Given the description of an element on the screen output the (x, y) to click on. 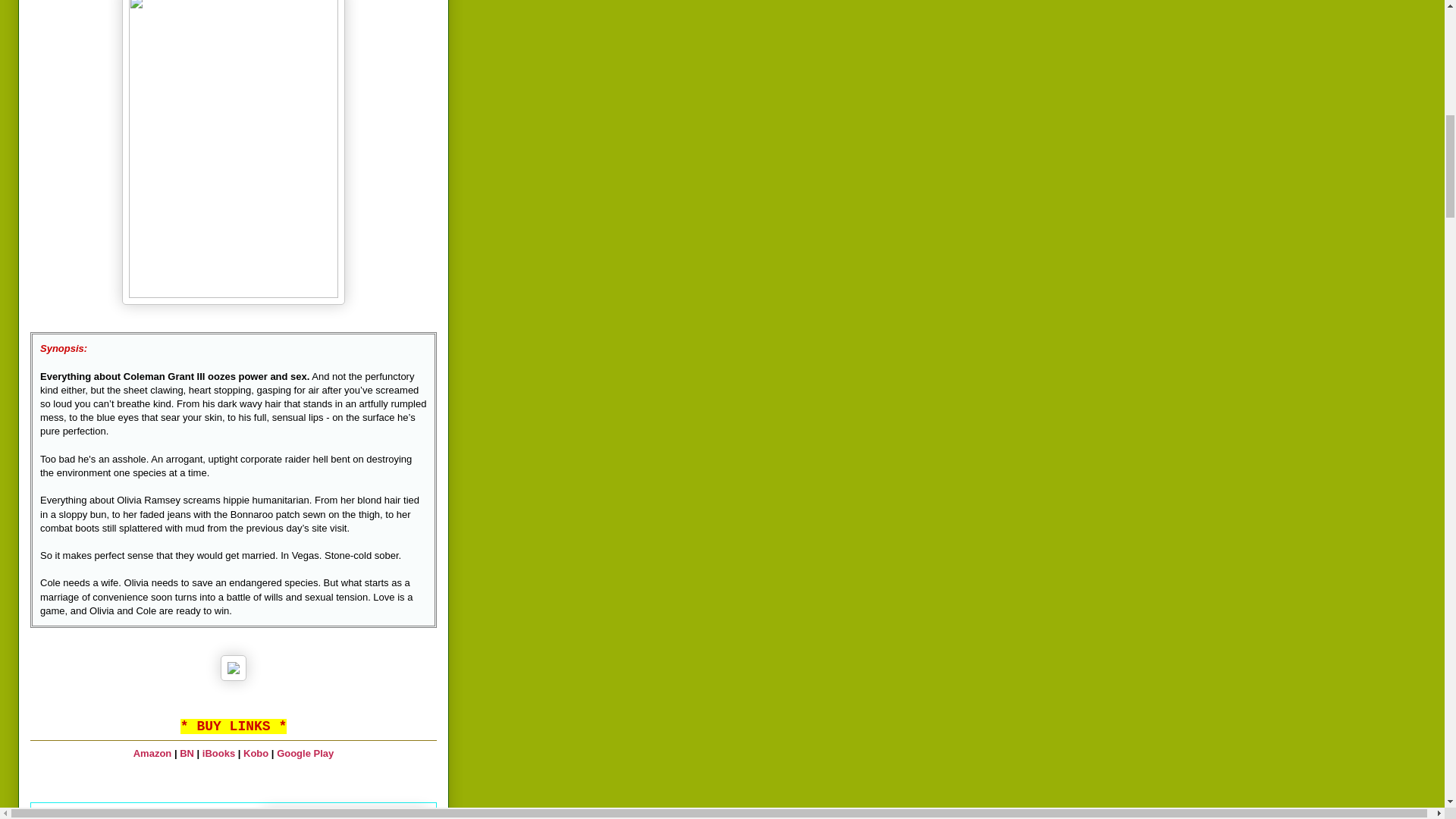
BN (186, 753)
iBooks (218, 753)
Kobo (255, 753)
Google Play (304, 753)
Amazon (152, 753)
